Given the description of an element on the screen output the (x, y) to click on. 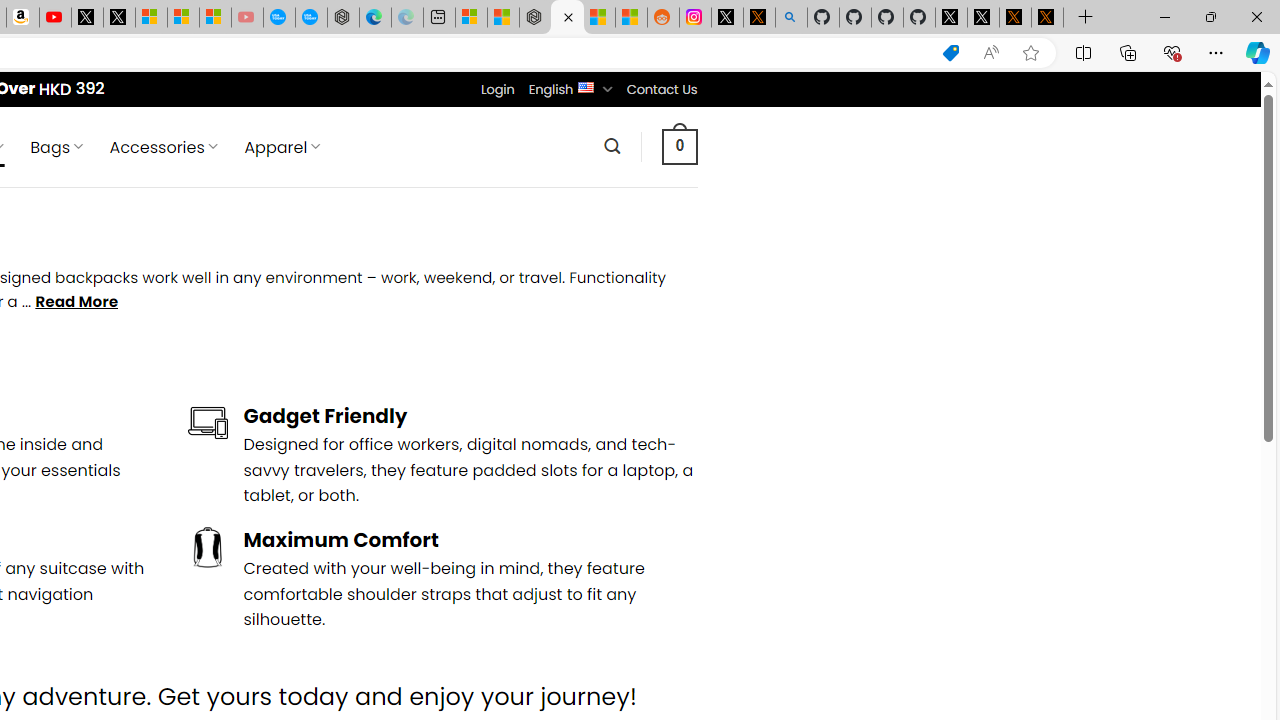
Login (497, 89)
X (118, 17)
Nordace - Backpacks (566, 17)
help.x.com | 524: A timeout occurred (758, 17)
 0  (679, 146)
Shanghai, China Weather trends | Microsoft Weather (630, 17)
Opinion: Op-Ed and Commentary - USA TODAY (279, 17)
Login (497, 89)
